Given the description of an element on the screen output the (x, y) to click on. 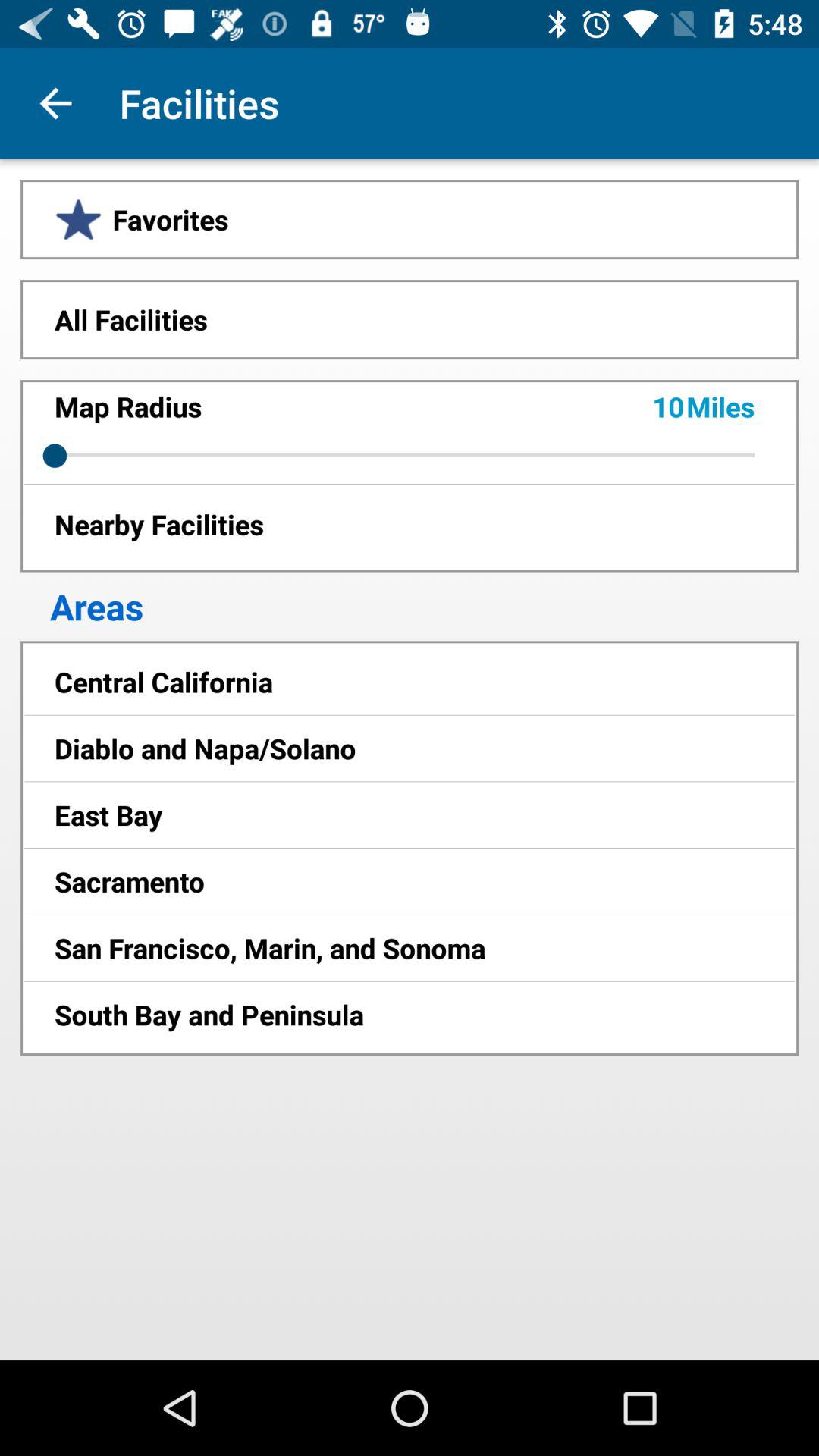
turn off the icon above the areas item (409, 524)
